Given the description of an element on the screen output the (x, y) to click on. 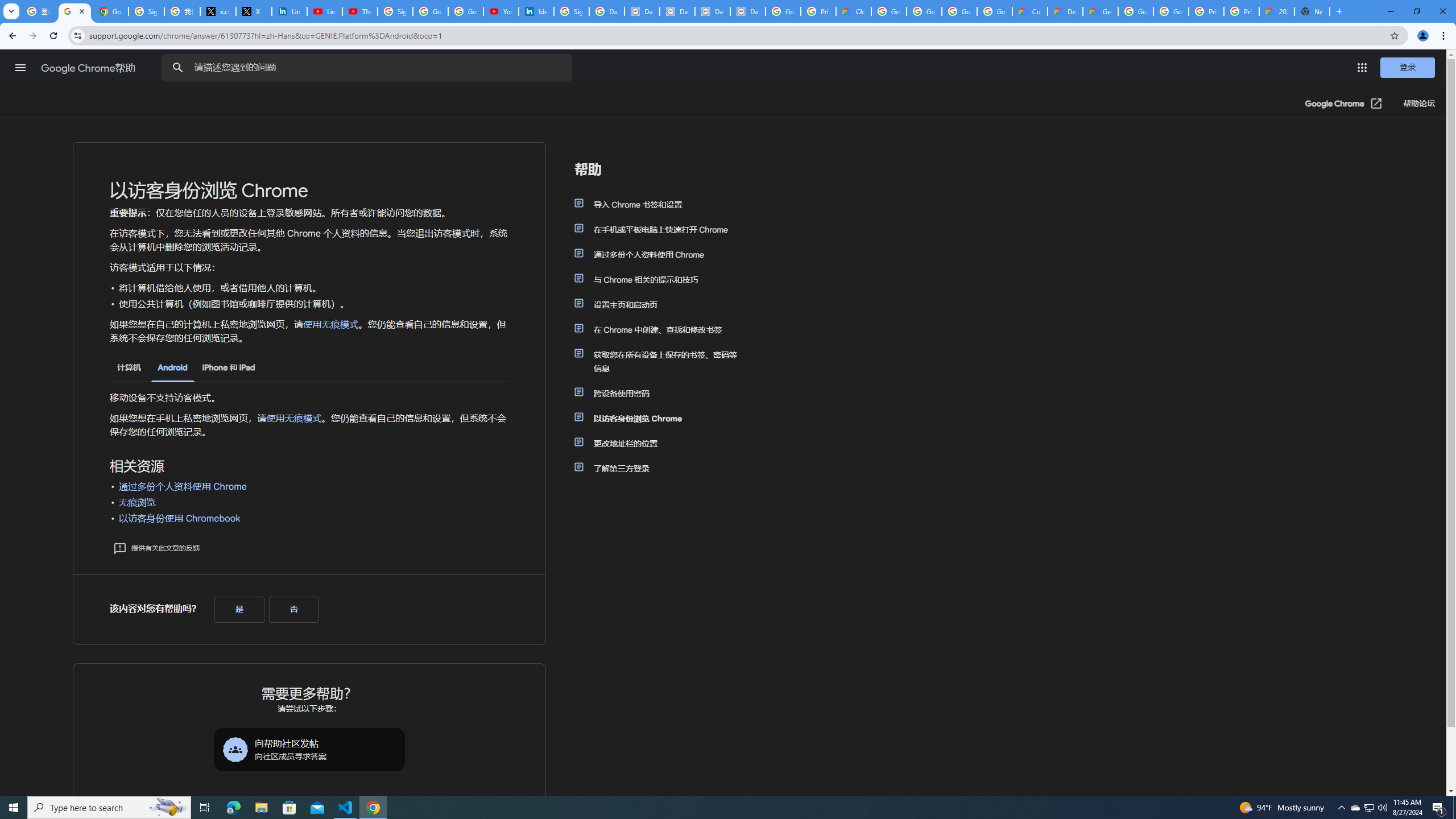
LinkedIn - YouTube (324, 11)
Google Cloud Platform (1170, 11)
